Given the description of an element on the screen output the (x, y) to click on. 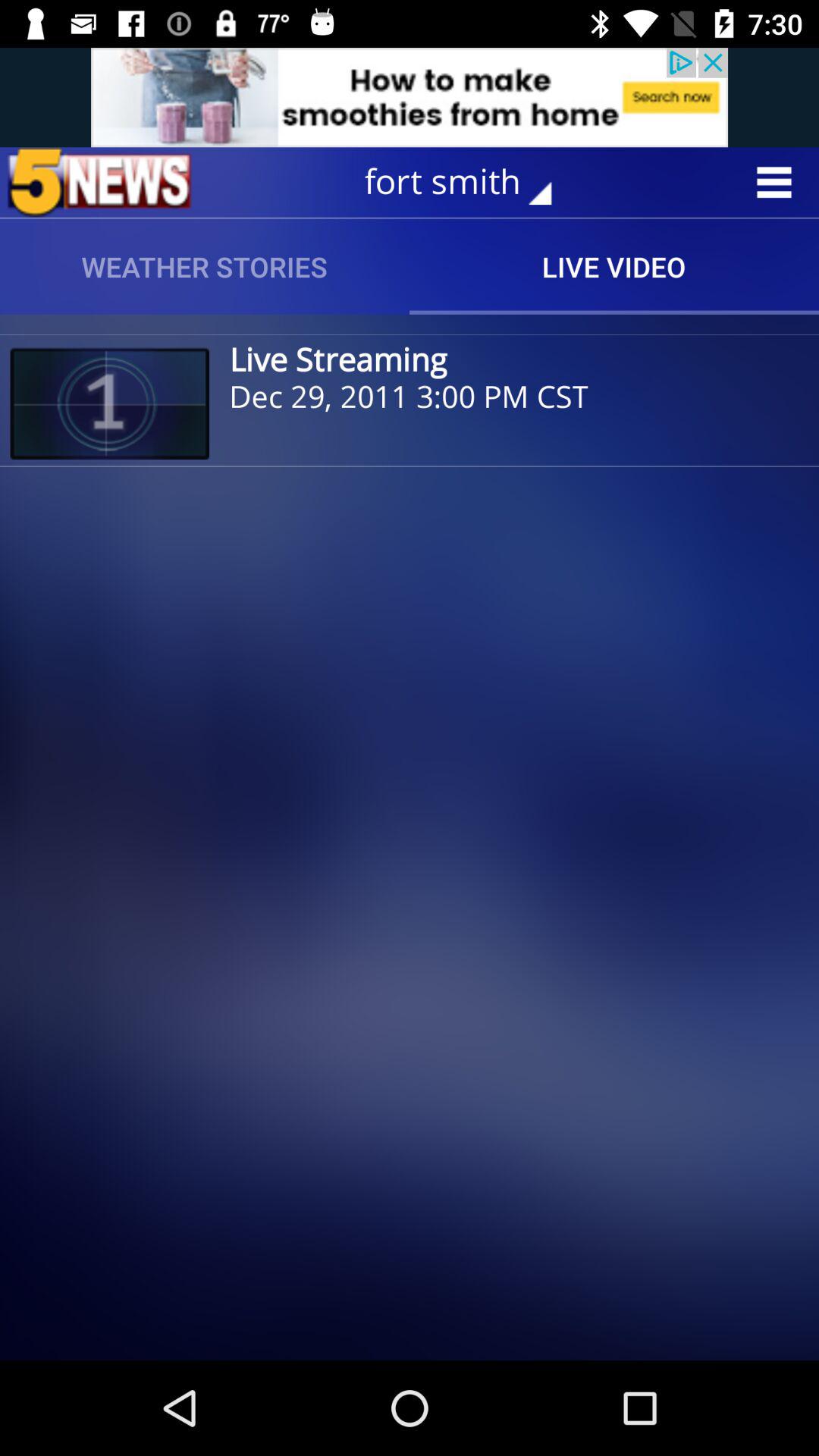
click advertisement (409, 97)
